Given the description of an element on the screen output the (x, y) to click on. 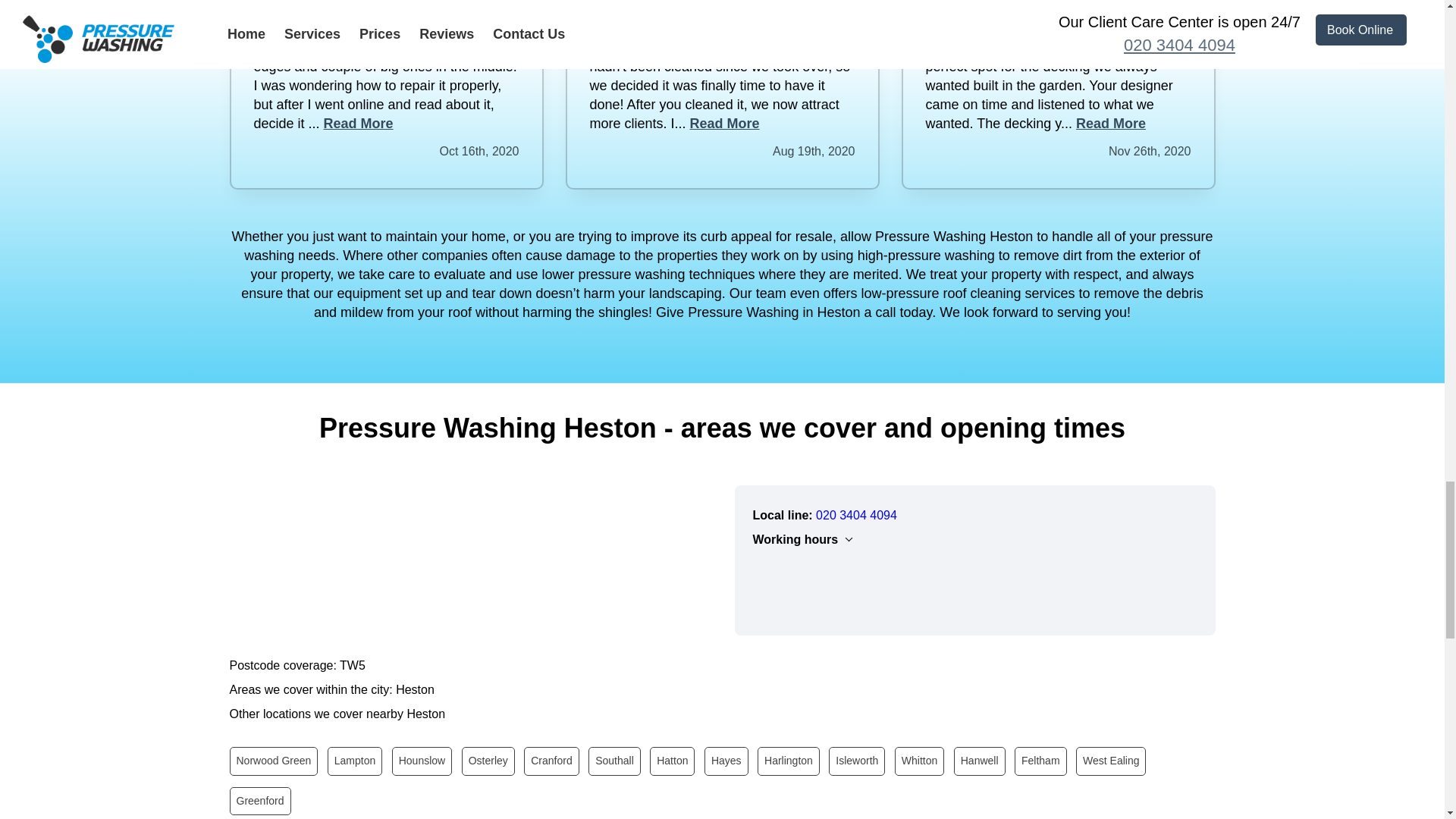
Osterley (488, 760)
Southall (614, 760)
Heston map location (469, 559)
Hayes (726, 760)
Cranford (551, 760)
Call Pressure Washing in Heston (855, 514)
Lampton (354, 760)
Osterley (488, 760)
Lampton (354, 760)
Norwood Green (272, 760)
Hounslow (421, 760)
Cranford (551, 760)
Hounslow (421, 760)
Harlington (788, 760)
Hatton (671, 760)
